Given the description of an element on the screen output the (x, y) to click on. 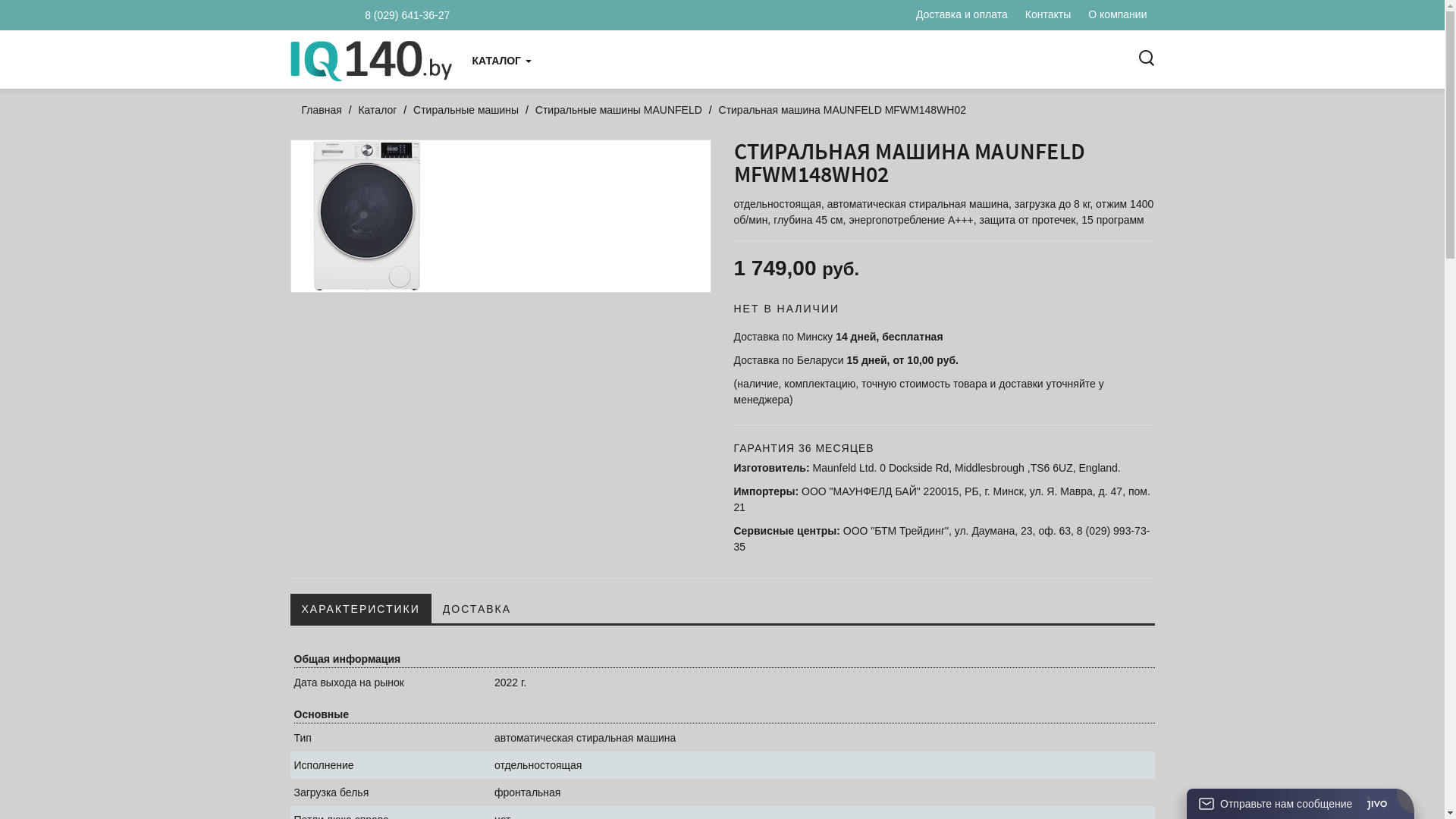
8 (029) 641-36-27 Element type: text (394, 15)
